Given the description of an element on the screen output the (x, y) to click on. 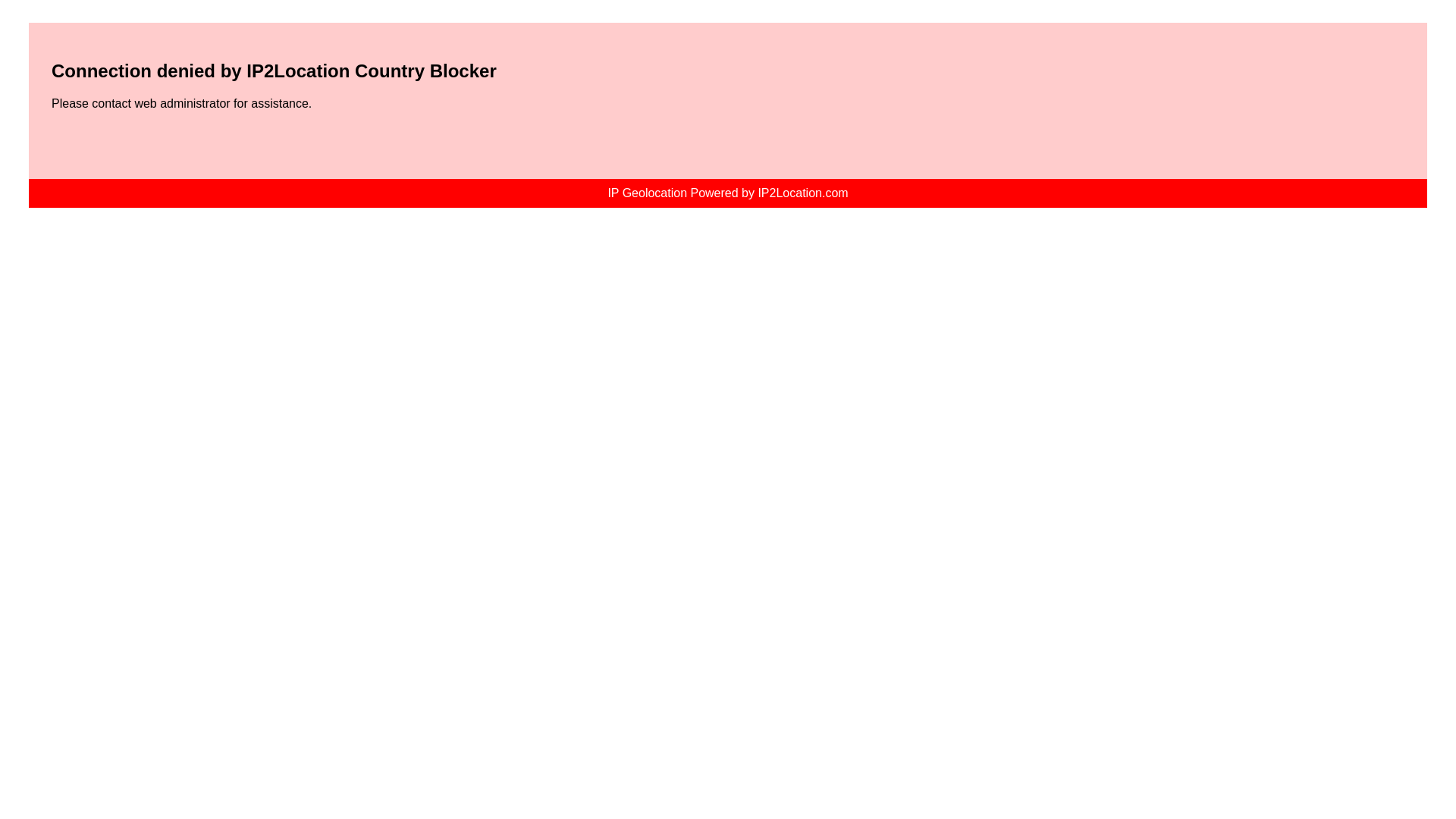
IP Geolocation Powered by IP2Location.com (727, 192)
